Given the description of an element on the screen output the (x, y) to click on. 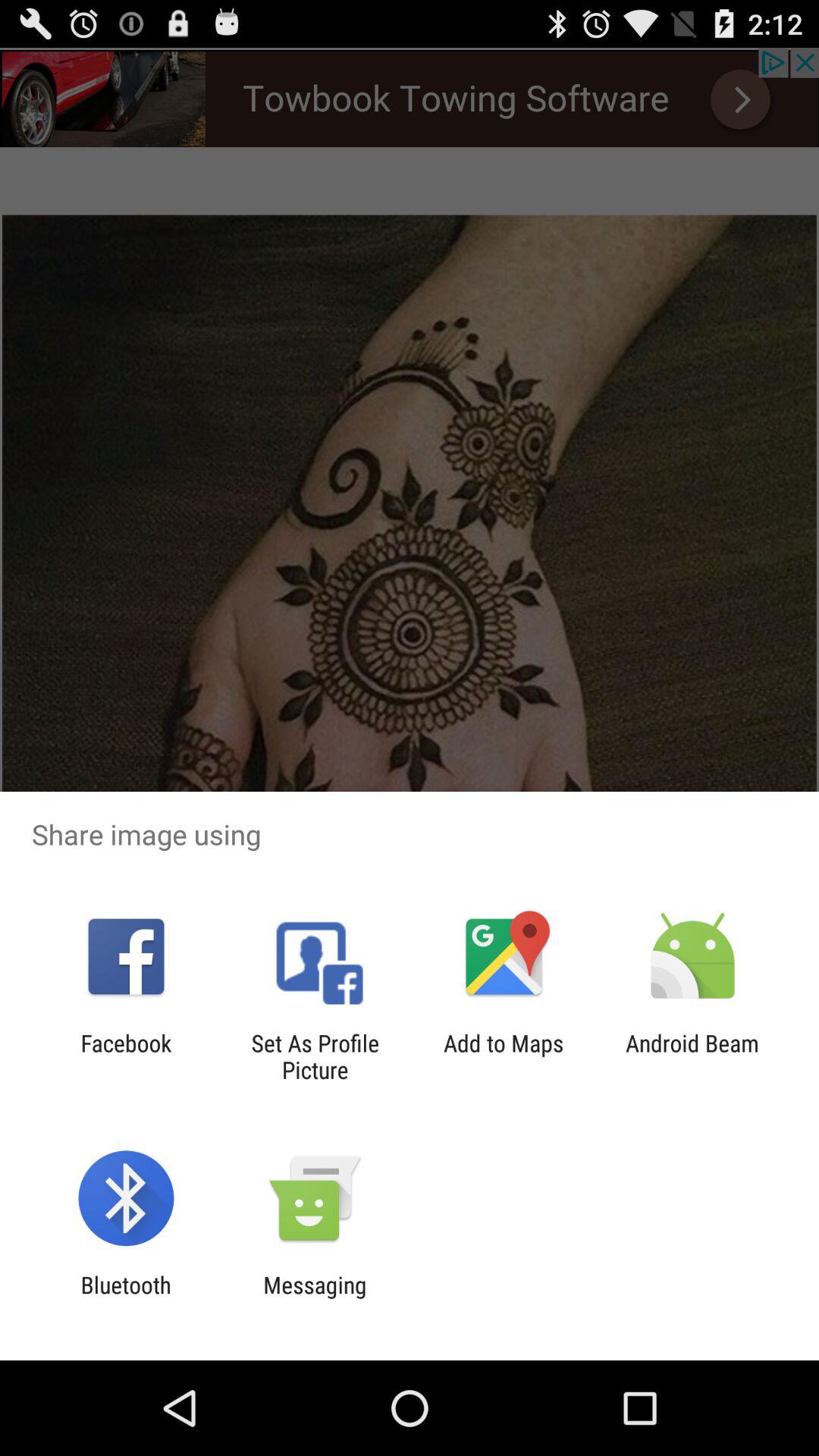
scroll to facebook app (125, 1056)
